Given the description of an element on the screen output the (x, y) to click on. 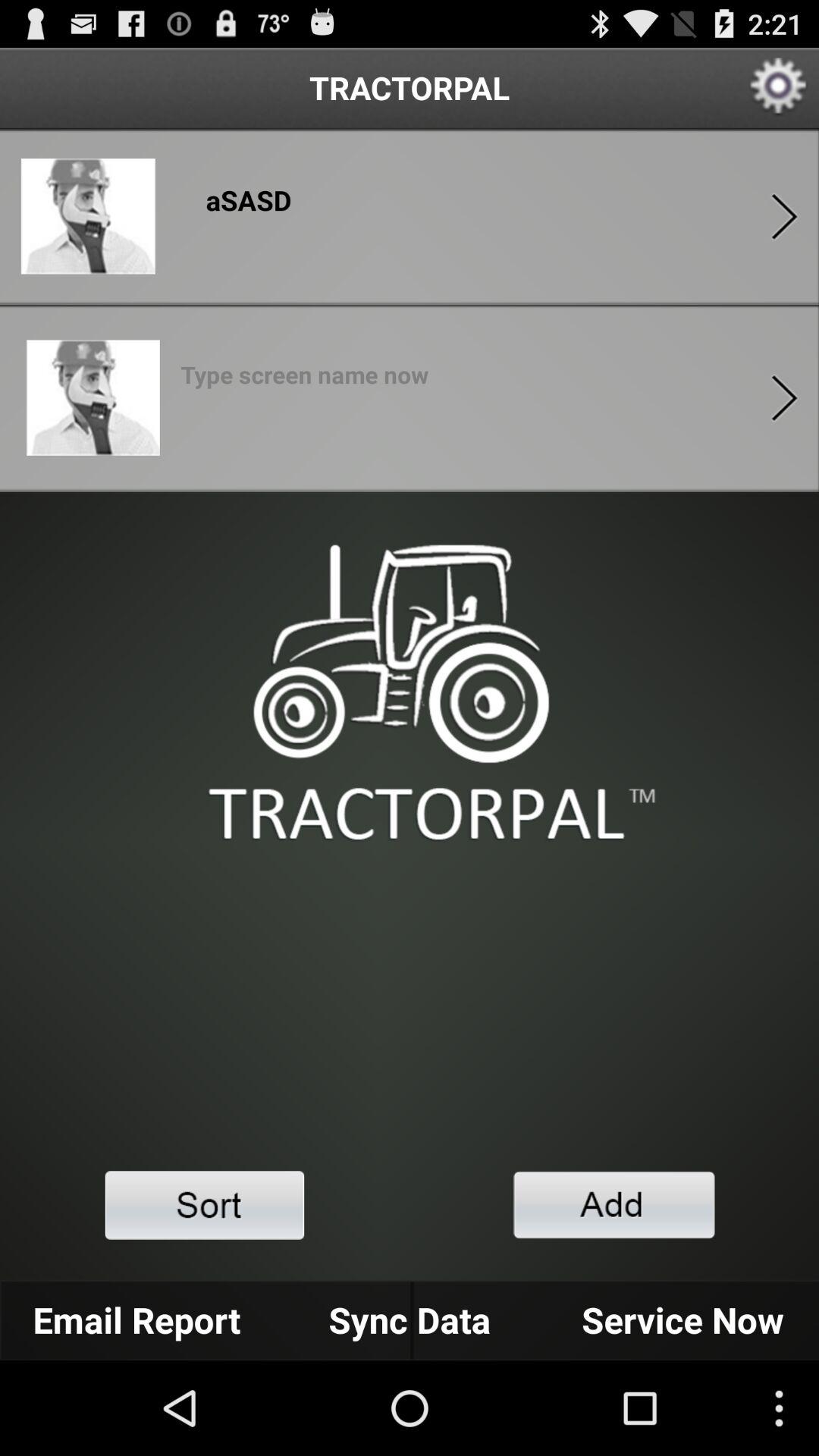
type screen name now (304, 379)
